Given the description of an element on the screen output the (x, y) to click on. 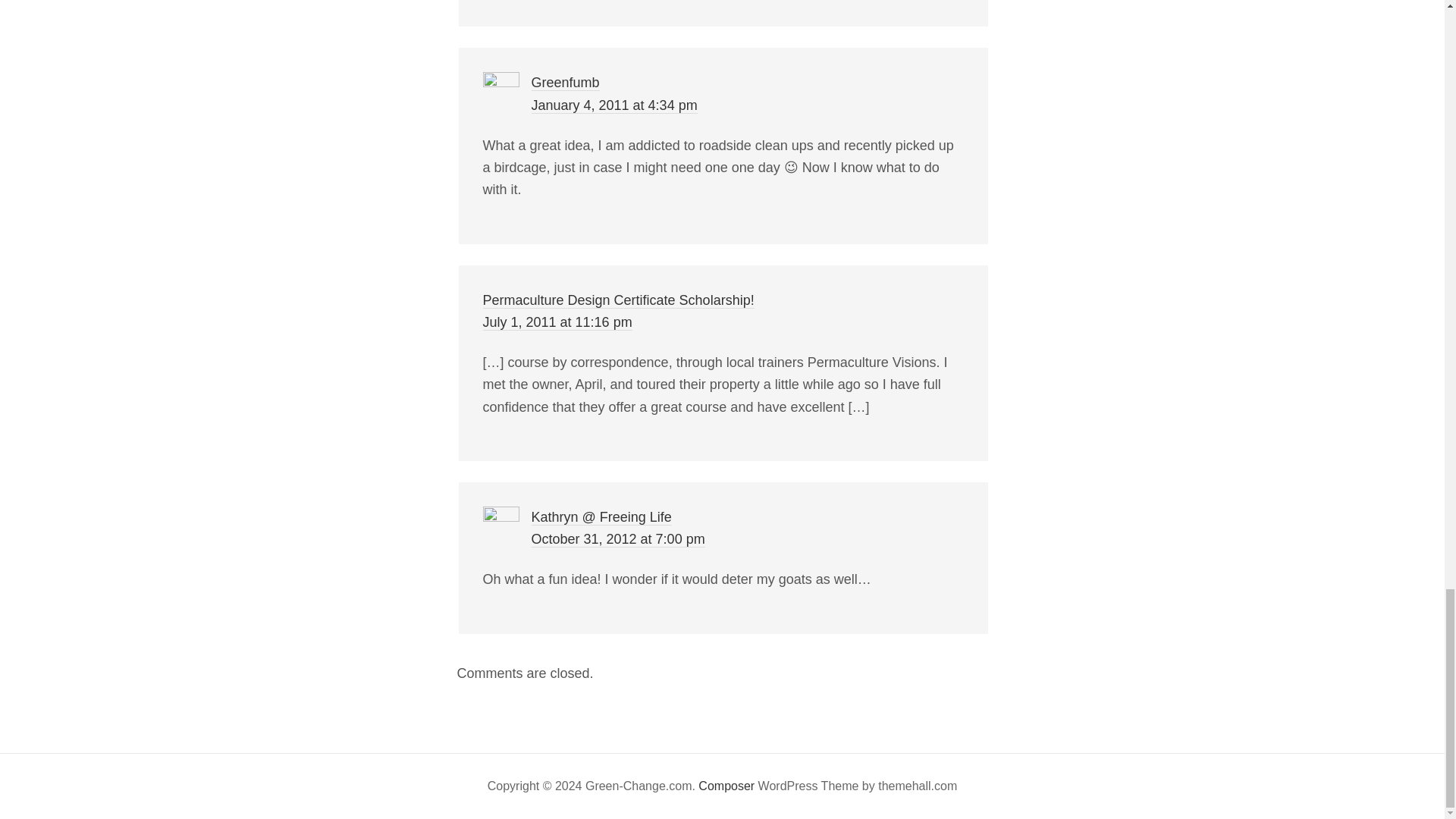
Greenfumb (564, 82)
Permaculture Design Certificate Scholarship! (617, 300)
January 4, 2011 at 4:34 pm (614, 105)
July 1, 2011 at 11:16 pm (556, 322)
Composer (726, 786)
Composer WordPress Theme (726, 786)
Wednesday, October 31, 2012, 7:00 pm (617, 539)
October 31, 2012 at 7:00 pm (617, 539)
Tuesday, January 4, 2011, 4:34 pm (614, 105)
Friday, July 1, 2011, 11:16 pm (556, 322)
